Given the description of an element on the screen output the (x, y) to click on. 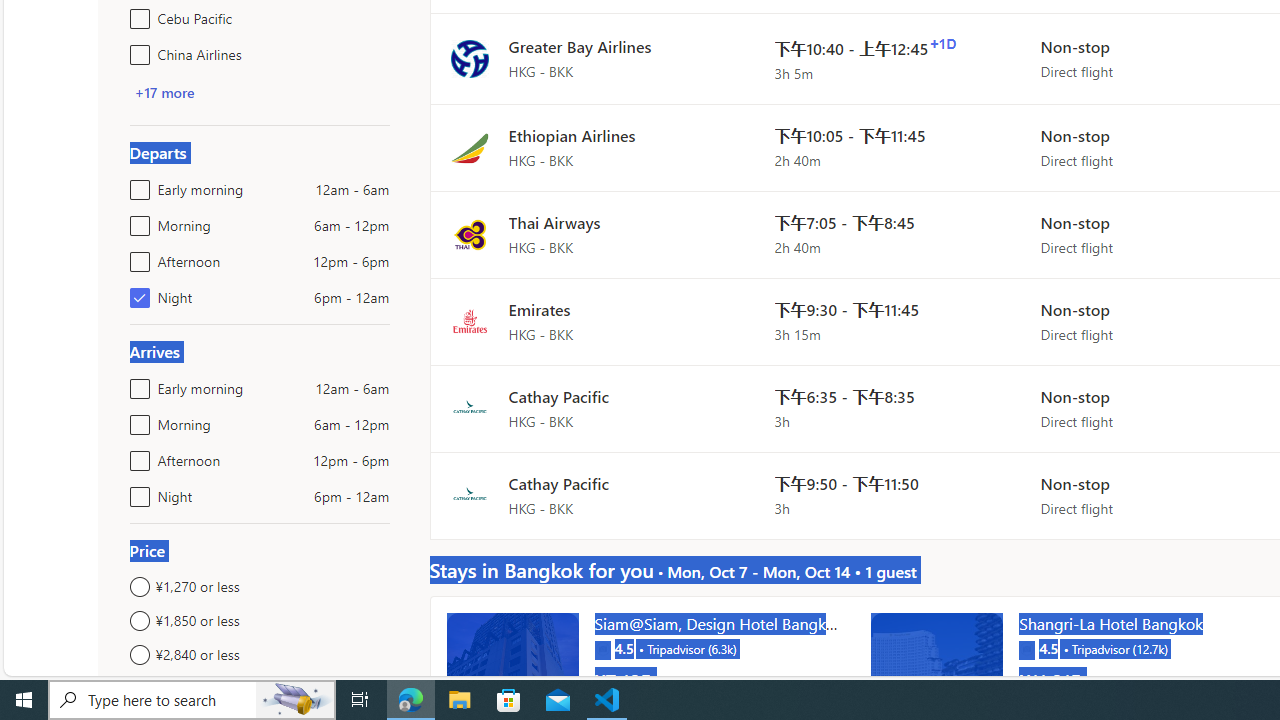
China Airlines (136, 50)
Morning6am - 12pm (136, 420)
Cebu Pacific (136, 14)
+17 more (164, 92)
Tripadvisor (1026, 648)
Any price (259, 688)
Early morning12am - 6am (136, 384)
Flight logo (469, 494)
Night6pm - 12am (136, 492)
Afternoon12pm - 6pm (136, 456)
